Given the description of an element on the screen output the (x, y) to click on. 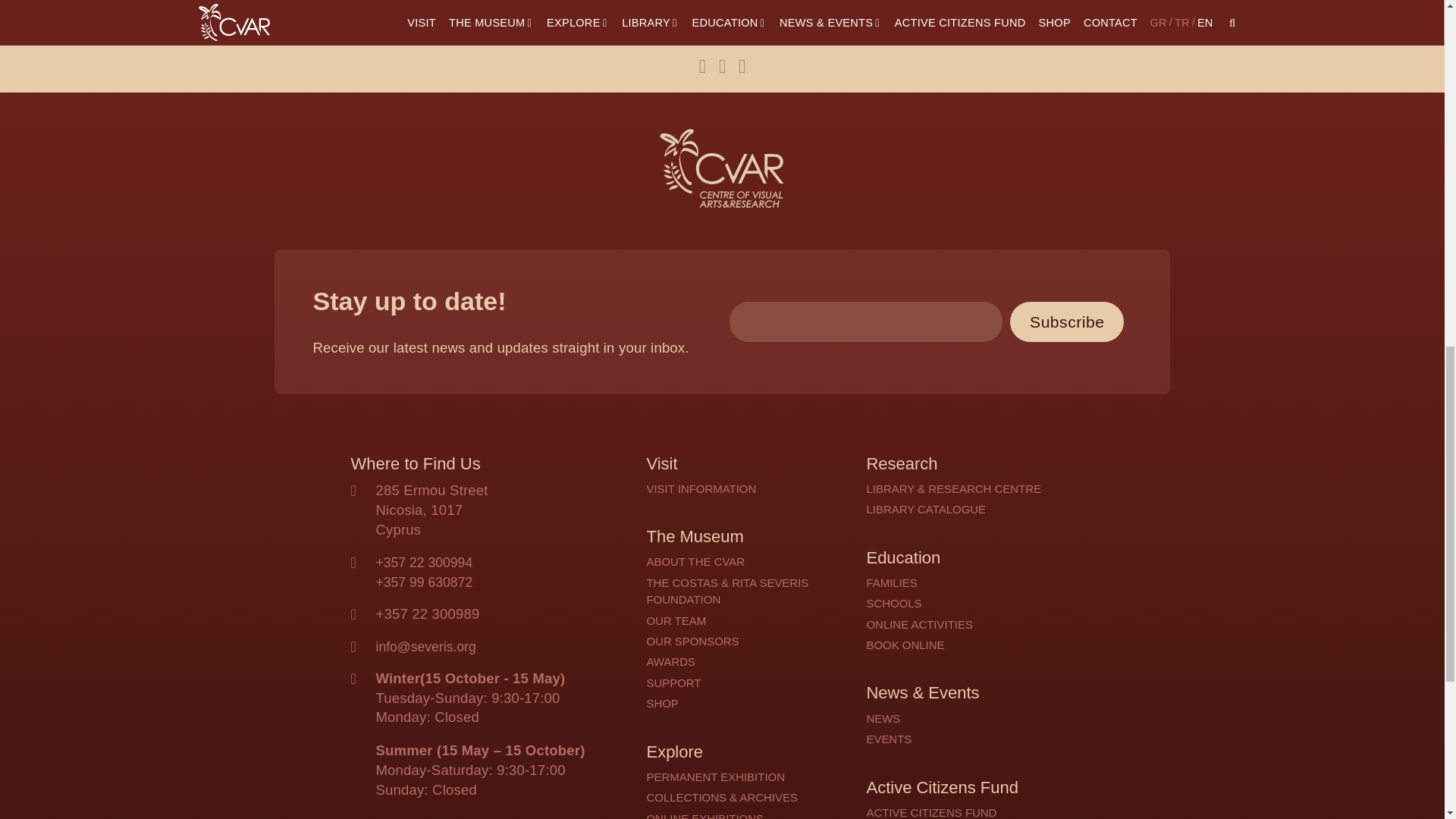
Subscribe (1067, 181)
